Given the description of an element on the screen output the (x, y) to click on. 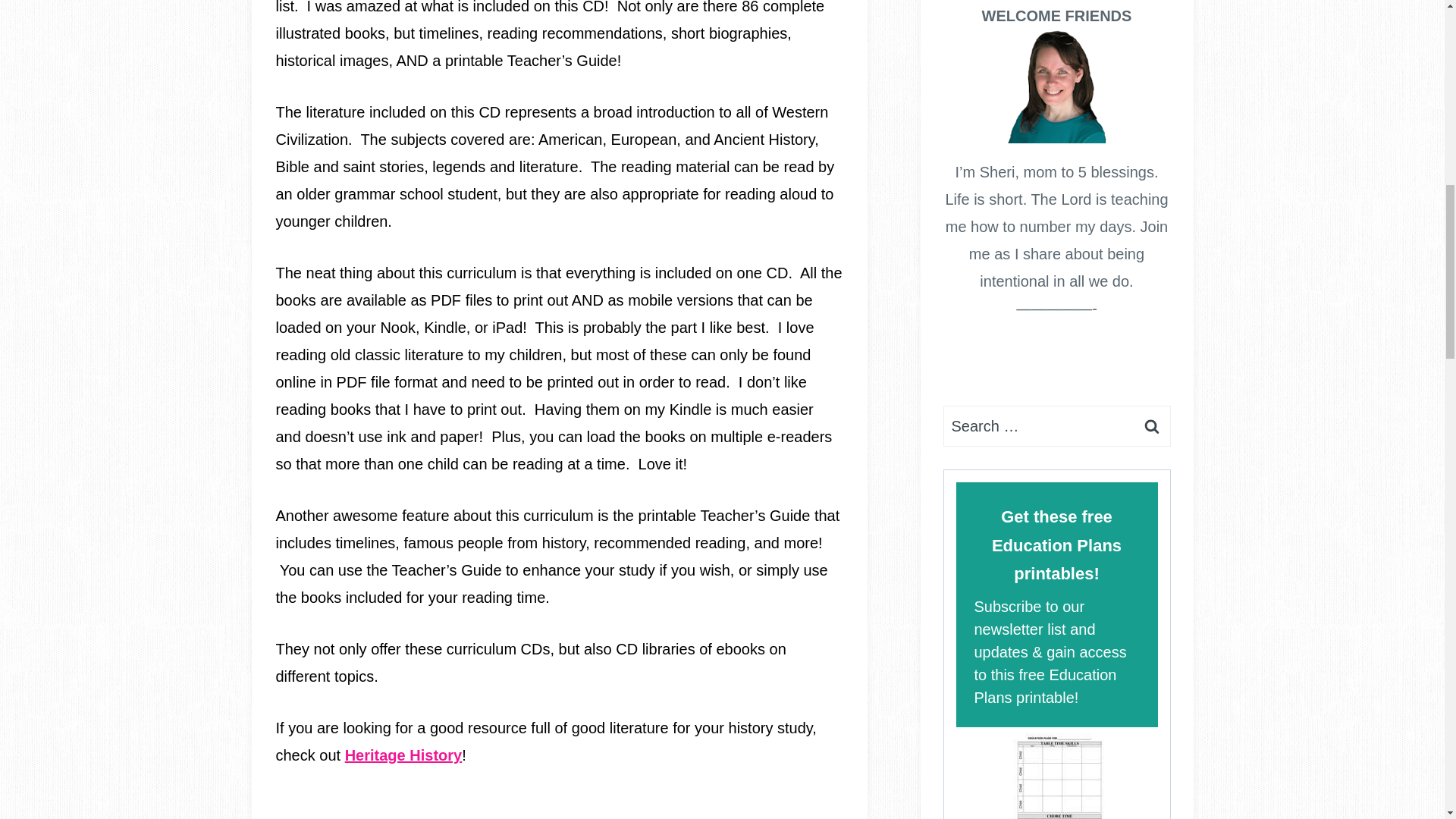
Heritage History (404, 754)
Search (1151, 425)
Search (1151, 425)
